Given the description of an element on the screen output the (x, y) to click on. 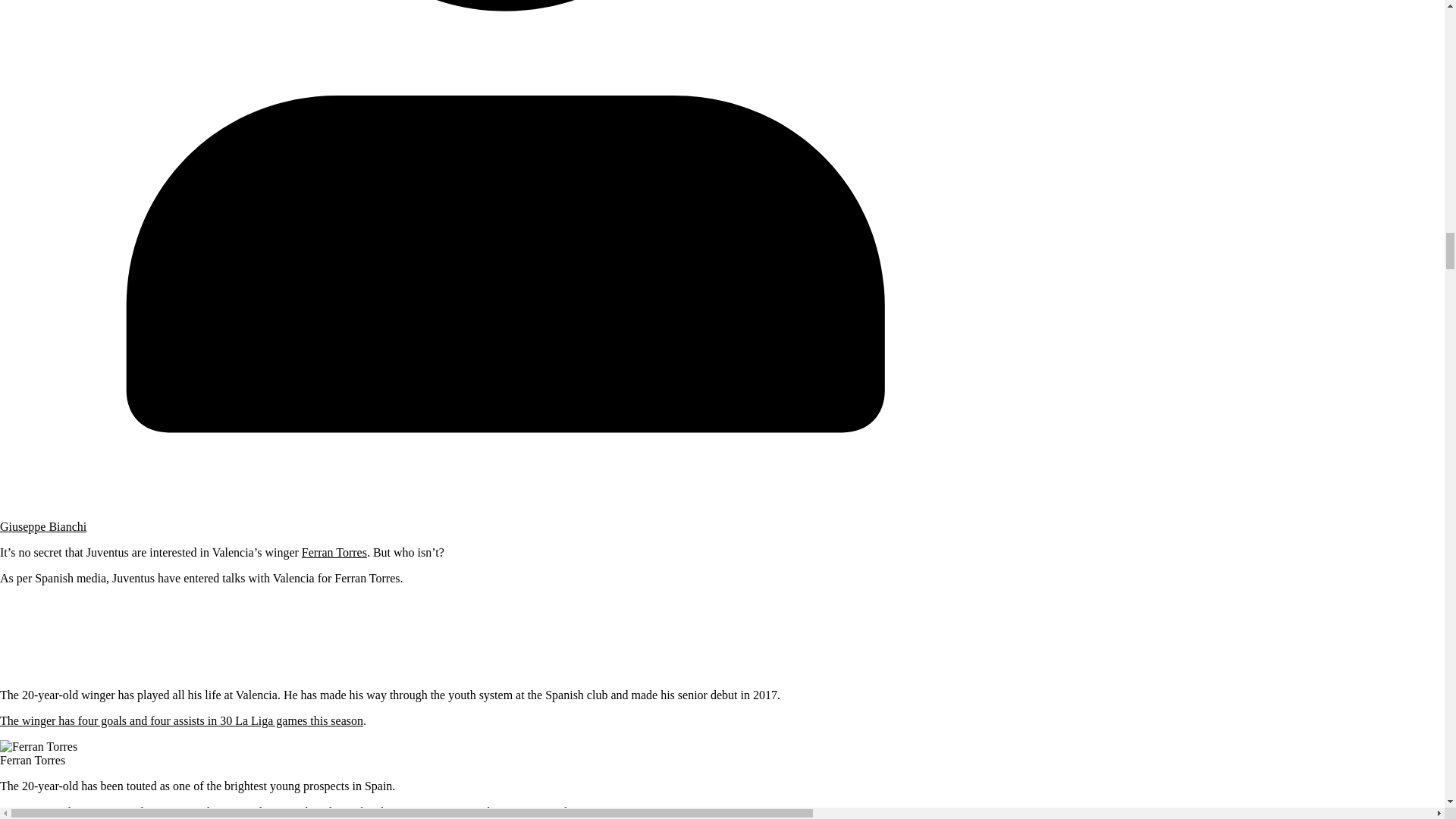
Giuseppe Bianchi (42, 526)
